Given the description of an element on the screen output the (x, y) to click on. 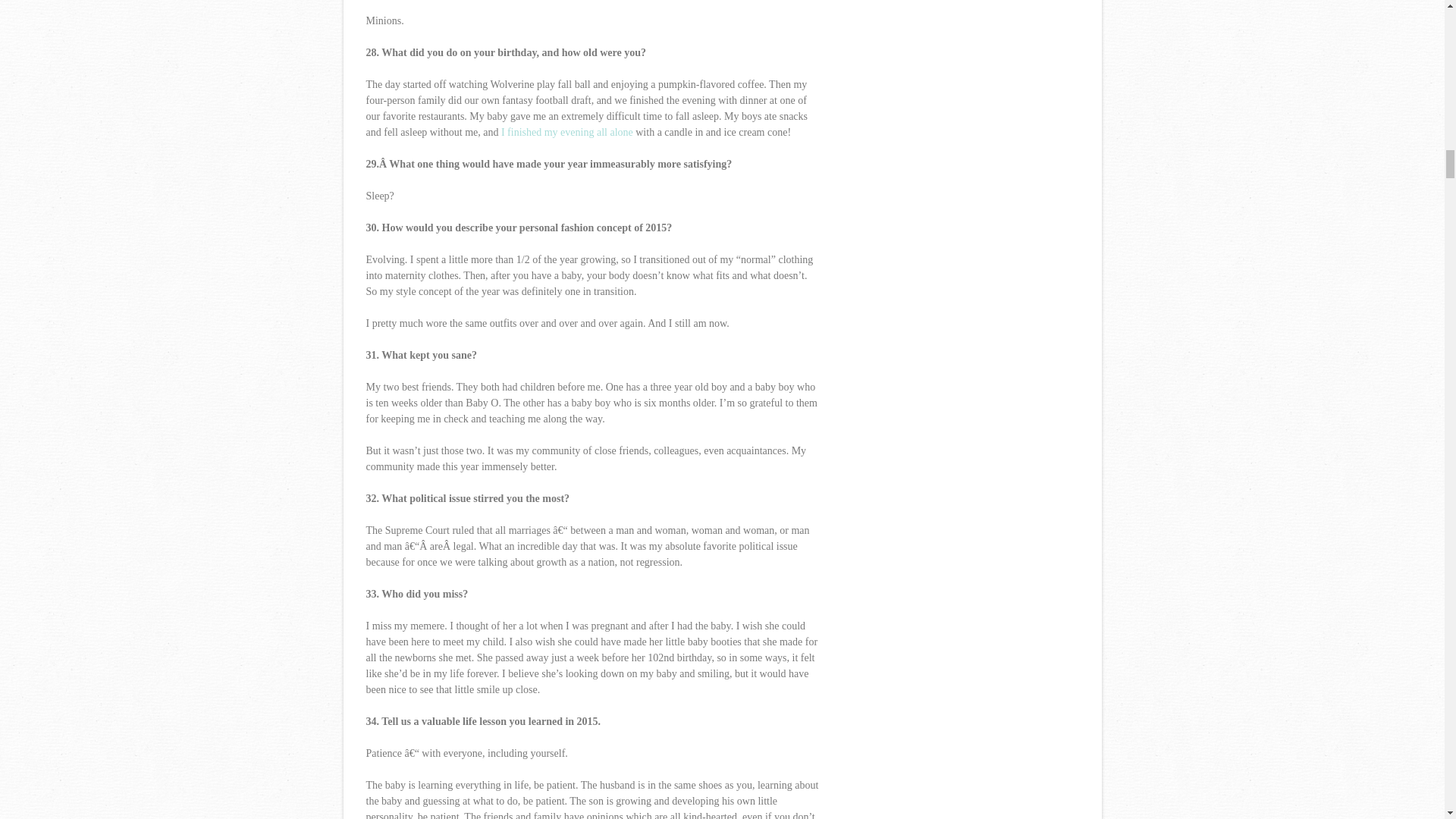
I finished my evening all alone (566, 132)
